Given the description of an element on the screen output the (x, y) to click on. 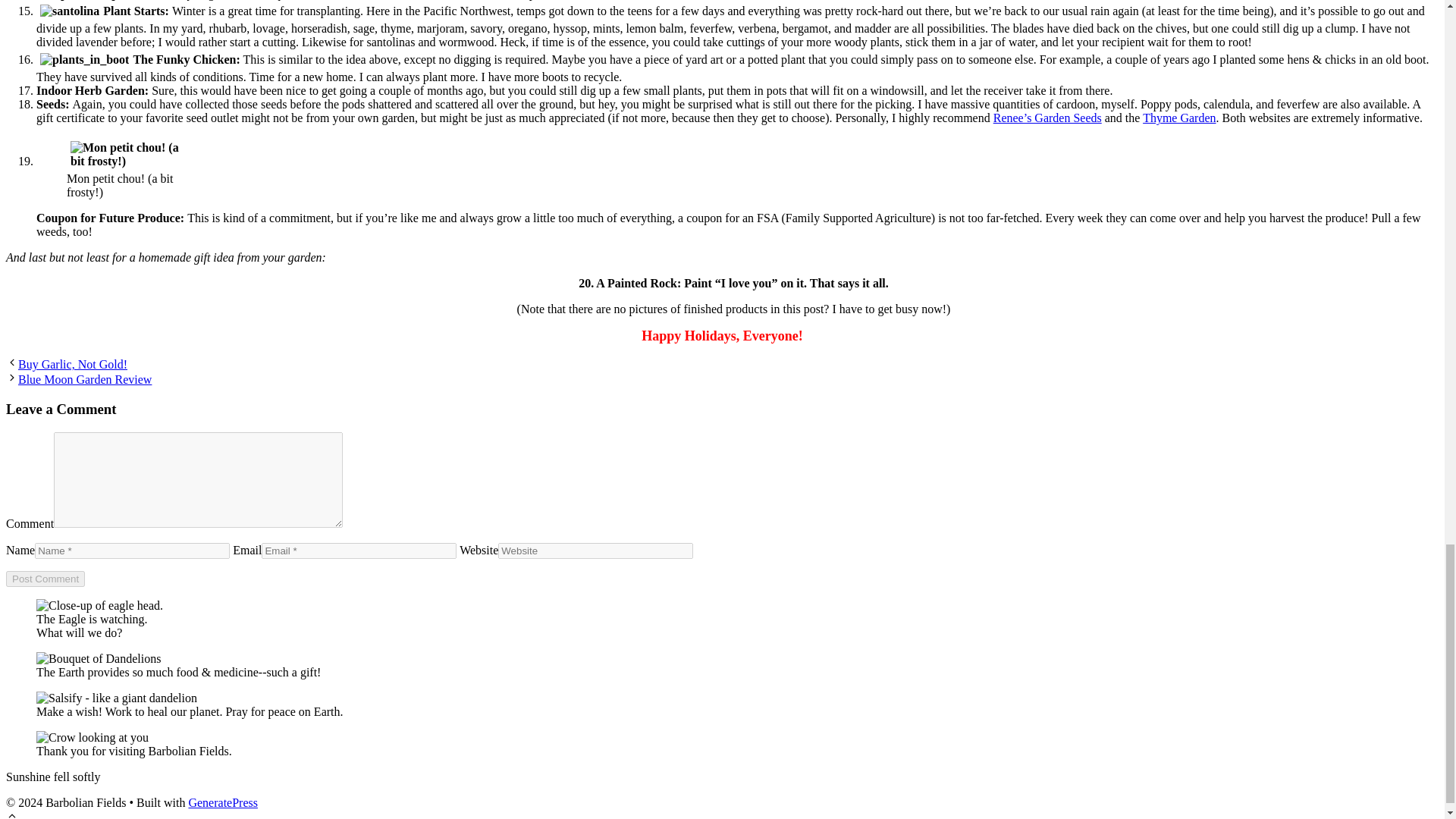
Post Comment (44, 578)
